Given the description of an element on the screen output the (x, y) to click on. 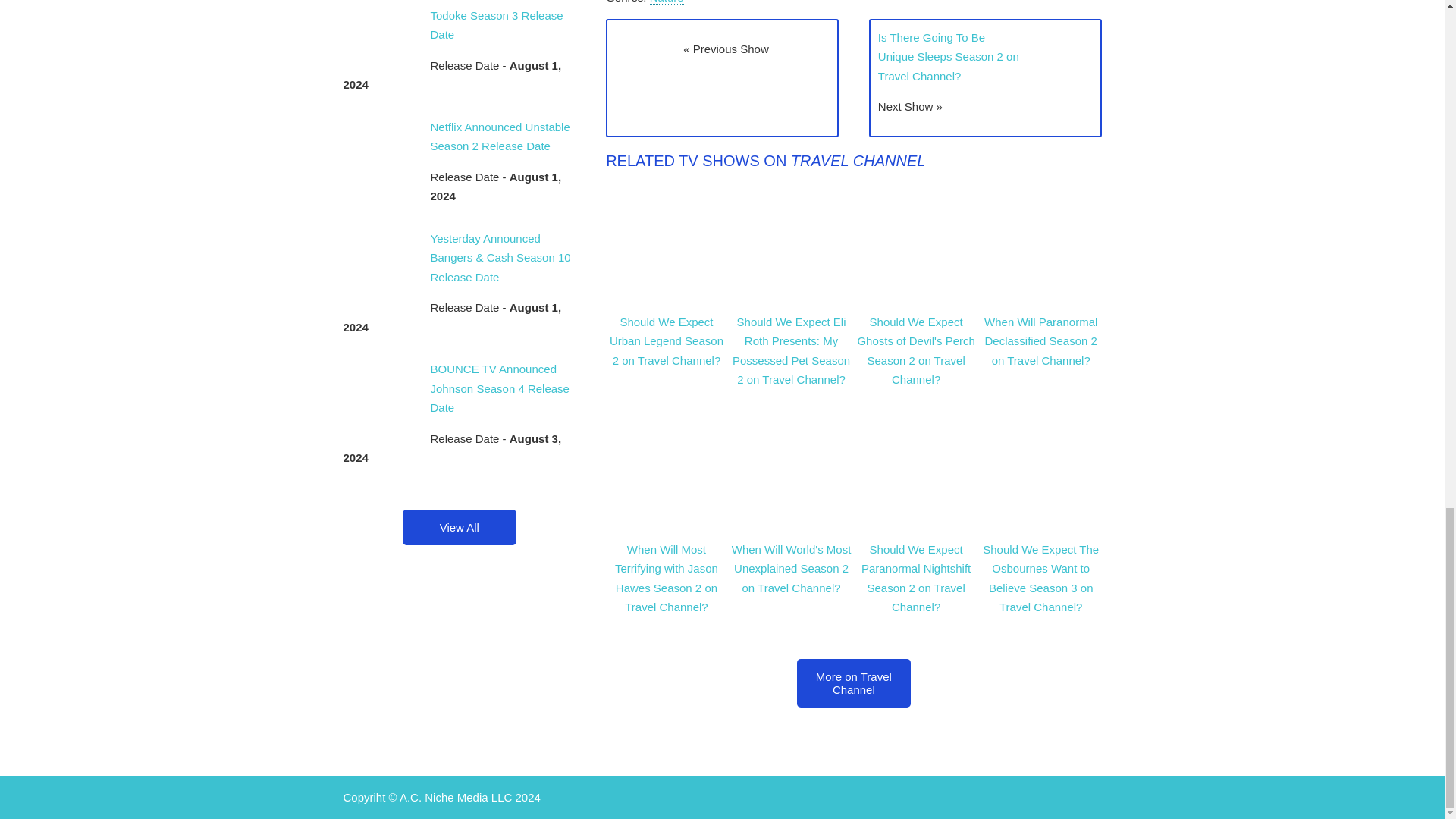
Should We Expect Urban Legend Season 2 on Travel Channel? (666, 340)
More on Travel Channel (853, 683)
Nature (666, 2)
